Given the description of an element on the screen output the (x, y) to click on. 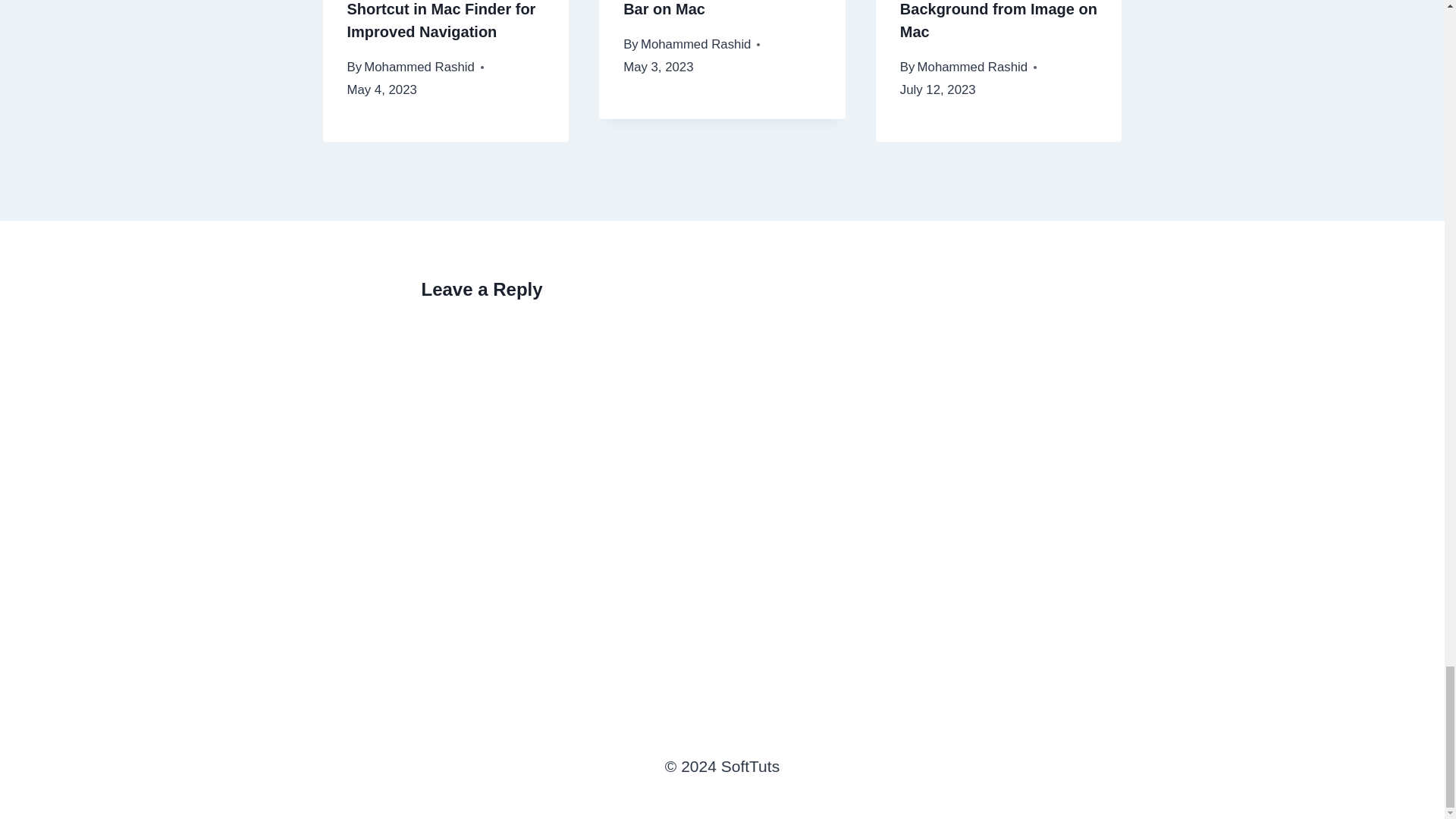
Mohammed Rashid (419, 66)
How to Enable Finder Path Bar on Mac (719, 8)
